Given the description of an element on the screen output the (x, y) to click on. 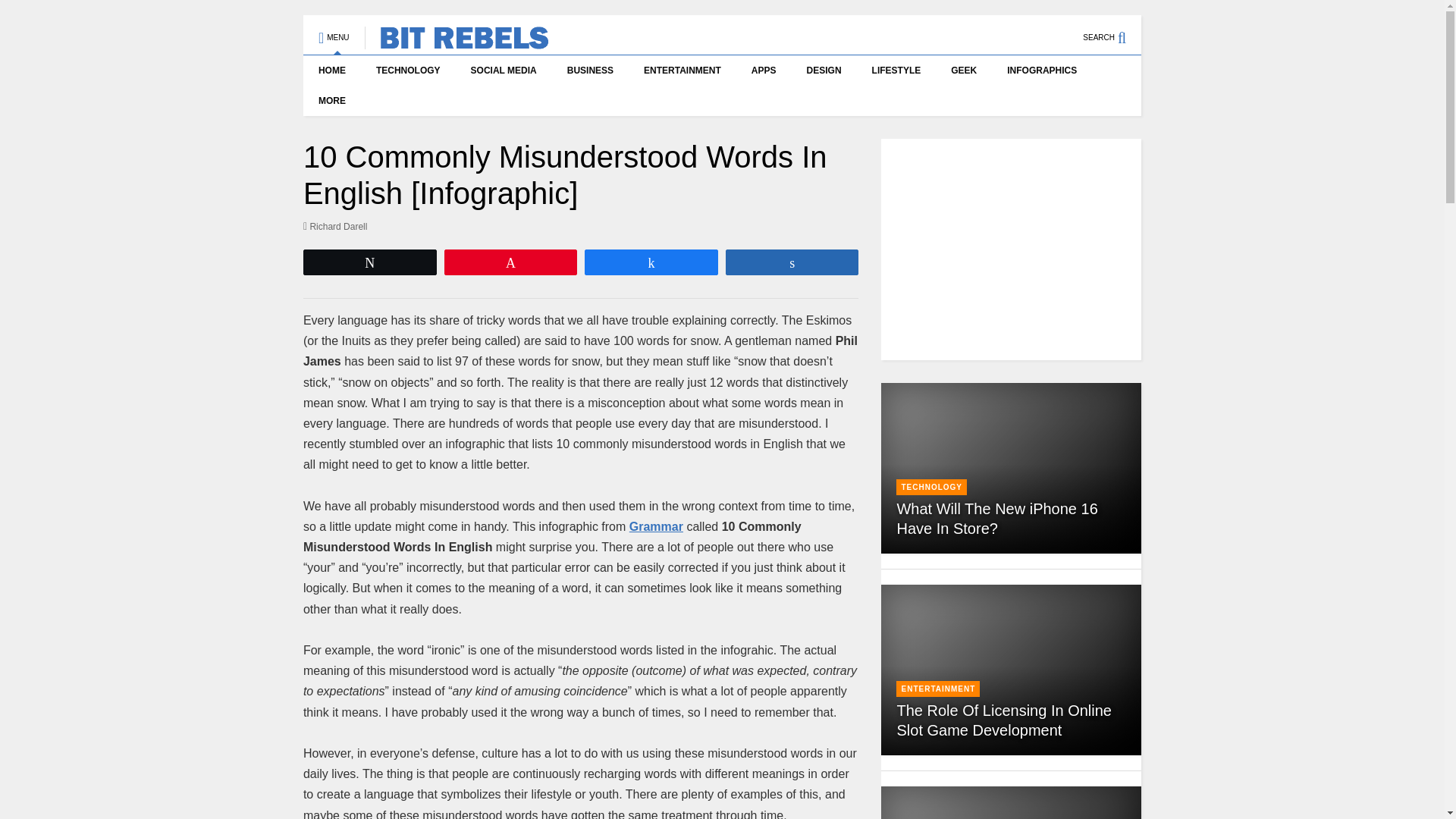
Grammar Official Website (655, 526)
SEARCH (1112, 30)
The Role Of Licensing In Online Slot Game Development (1004, 719)
Grammar (655, 526)
TECHNOLOGY (408, 70)
APPS (764, 70)
Richard Darell (335, 226)
MENU (333, 30)
LIFESTYLE (896, 70)
Bit Rebels (456, 42)
